Given the description of an element on the screen output the (x, y) to click on. 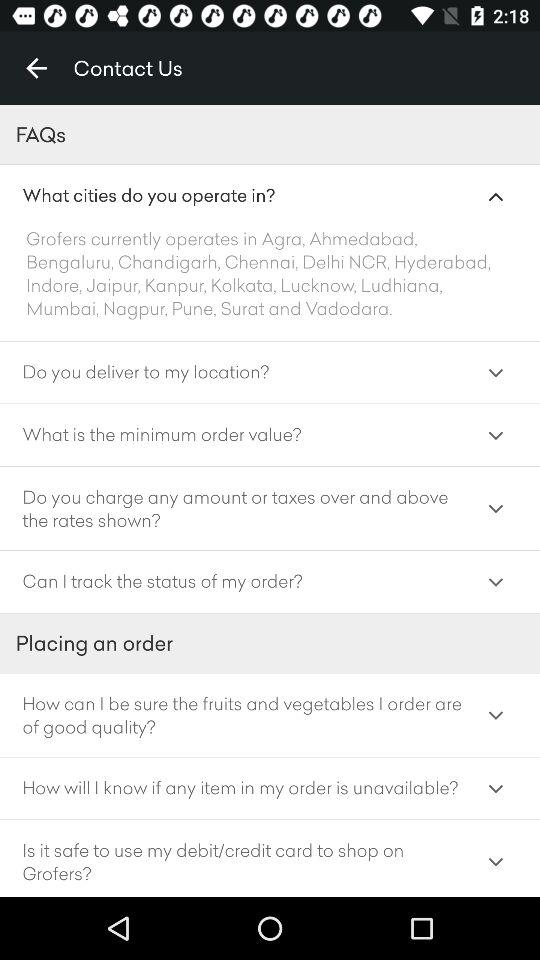
tap icon to the left of the contact us (36, 67)
